Given the description of an element on the screen output the (x, y) to click on. 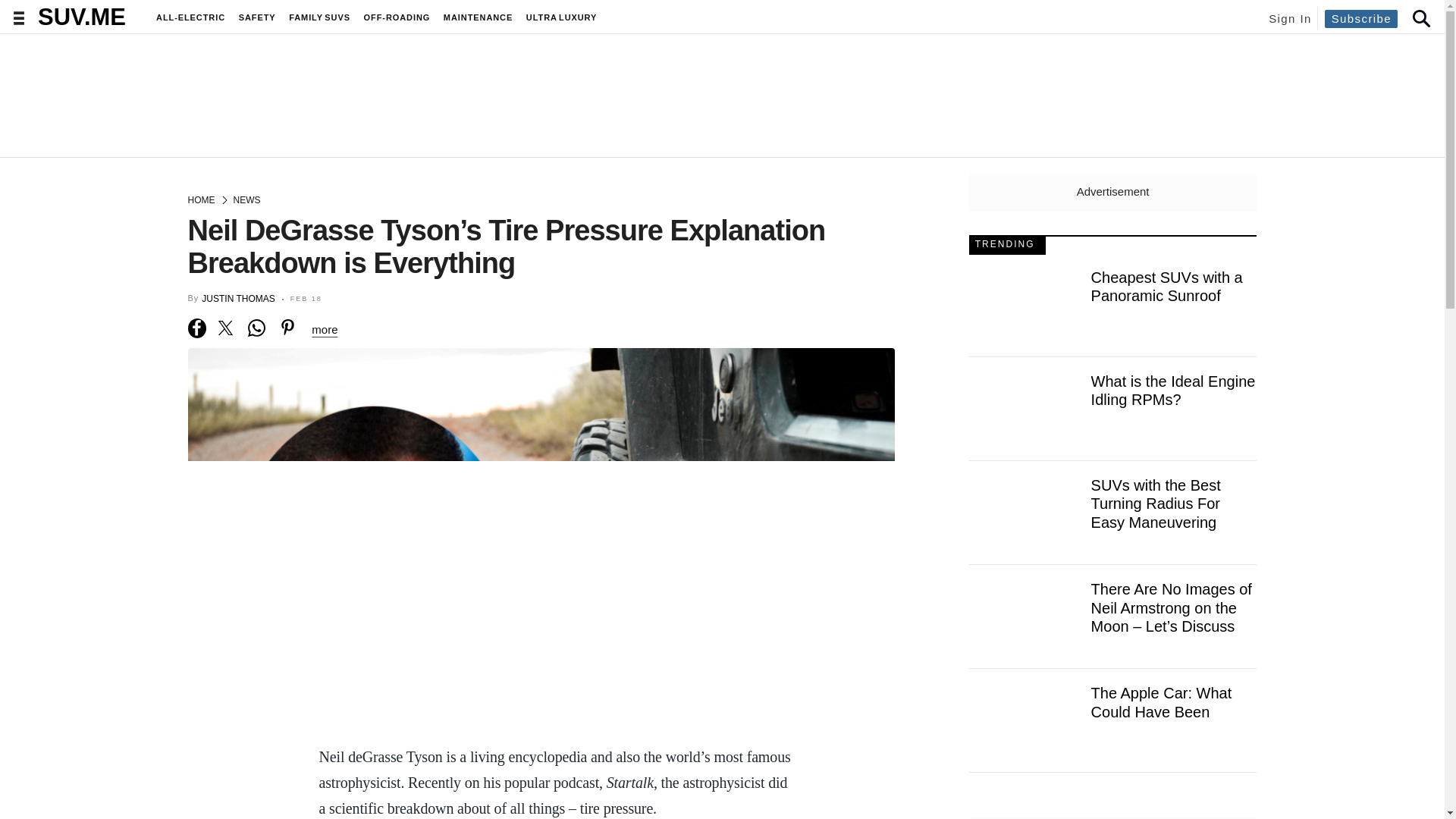
Share on Facebook (196, 328)
43 topics (561, 17)
76 topics (477, 17)
Share on Pinterest (288, 327)
Sign In (1289, 18)
67 topics (319, 17)
65 topics (256, 17)
34 topics (396, 17)
Search button (1420, 17)
Share on WhatsApp (256, 327)
61 topics (190, 17)
Subscribe (1360, 18)
Menu button (18, 17)
Share on Twitter (225, 327)
